Given the description of an element on the screen output the (x, y) to click on. 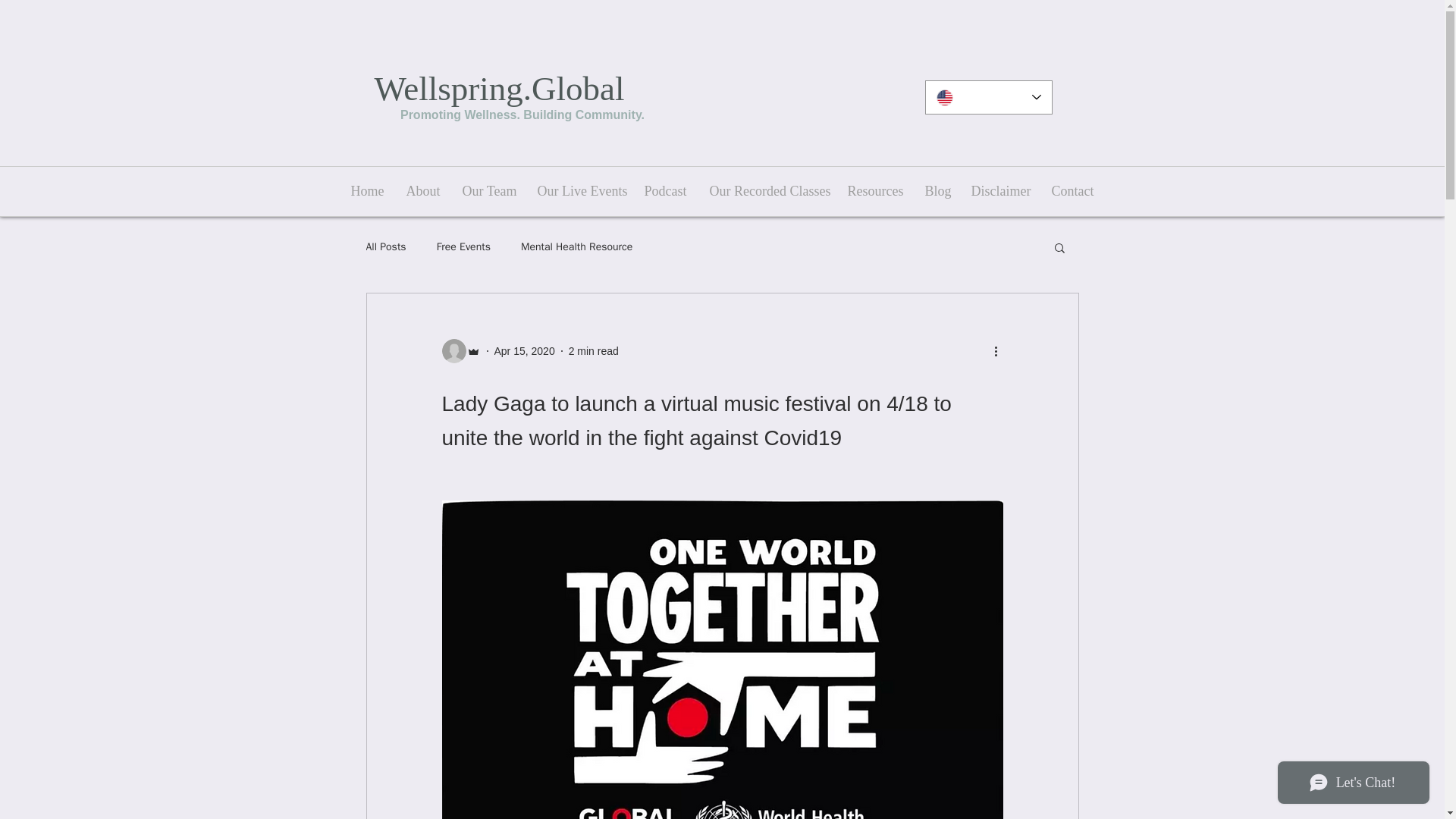
2 min read (593, 349)
Apr 15, 2020 (524, 349)
Resources (873, 191)
About (421, 191)
Blog (935, 191)
Podcast (664, 191)
Mental Health Resource (576, 246)
Home (366, 191)
Our Live Events (579, 191)
Disclaimer (1000, 191)
Our Recorded Classes (766, 191)
Free Events (463, 246)
All Posts (385, 246)
Our Team (487, 191)
Contact (1073, 191)
